Given the description of an element on the screen output the (x, y) to click on. 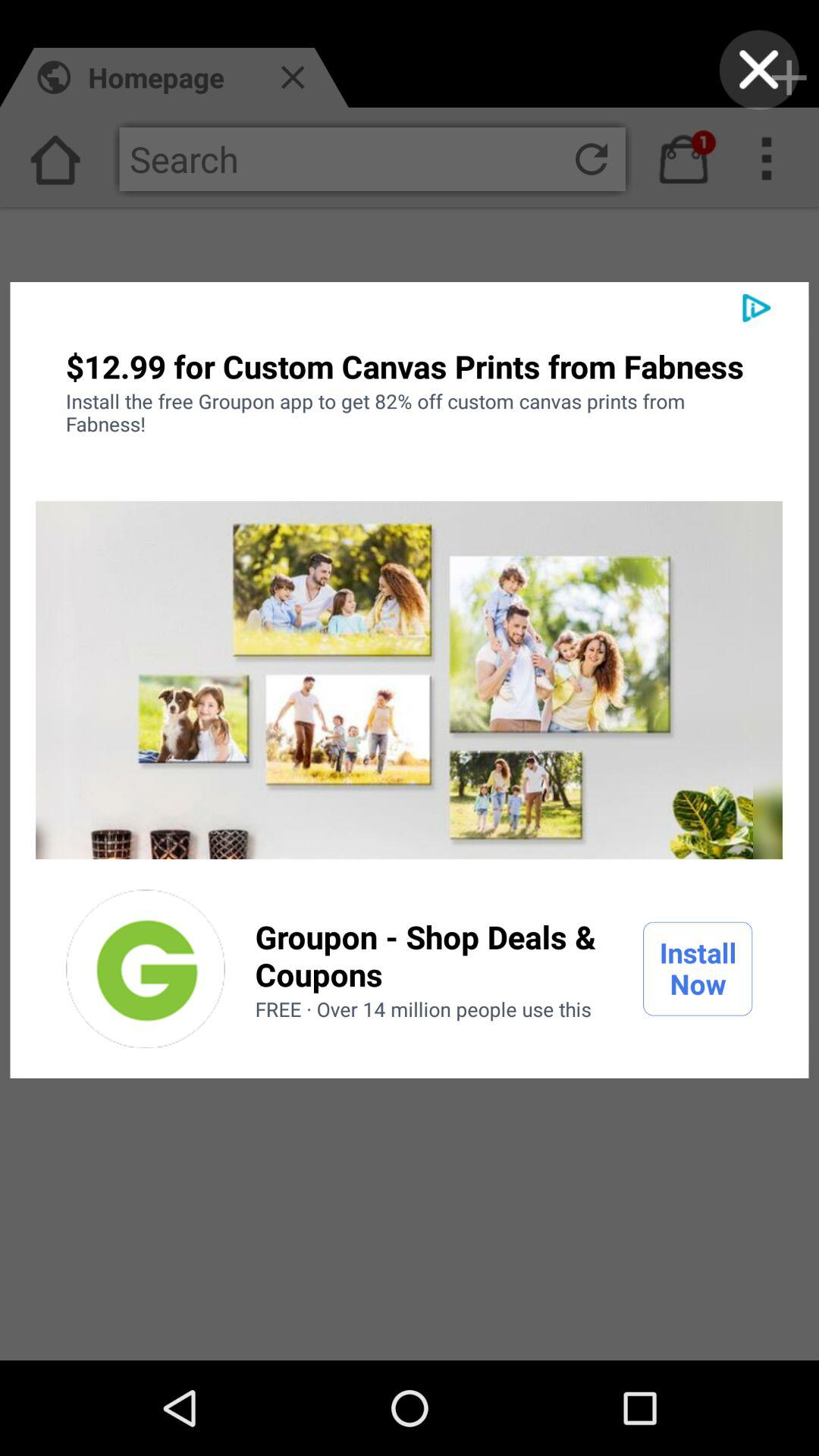
close the page (759, 69)
